Given the description of an element on the screen output the (x, y) to click on. 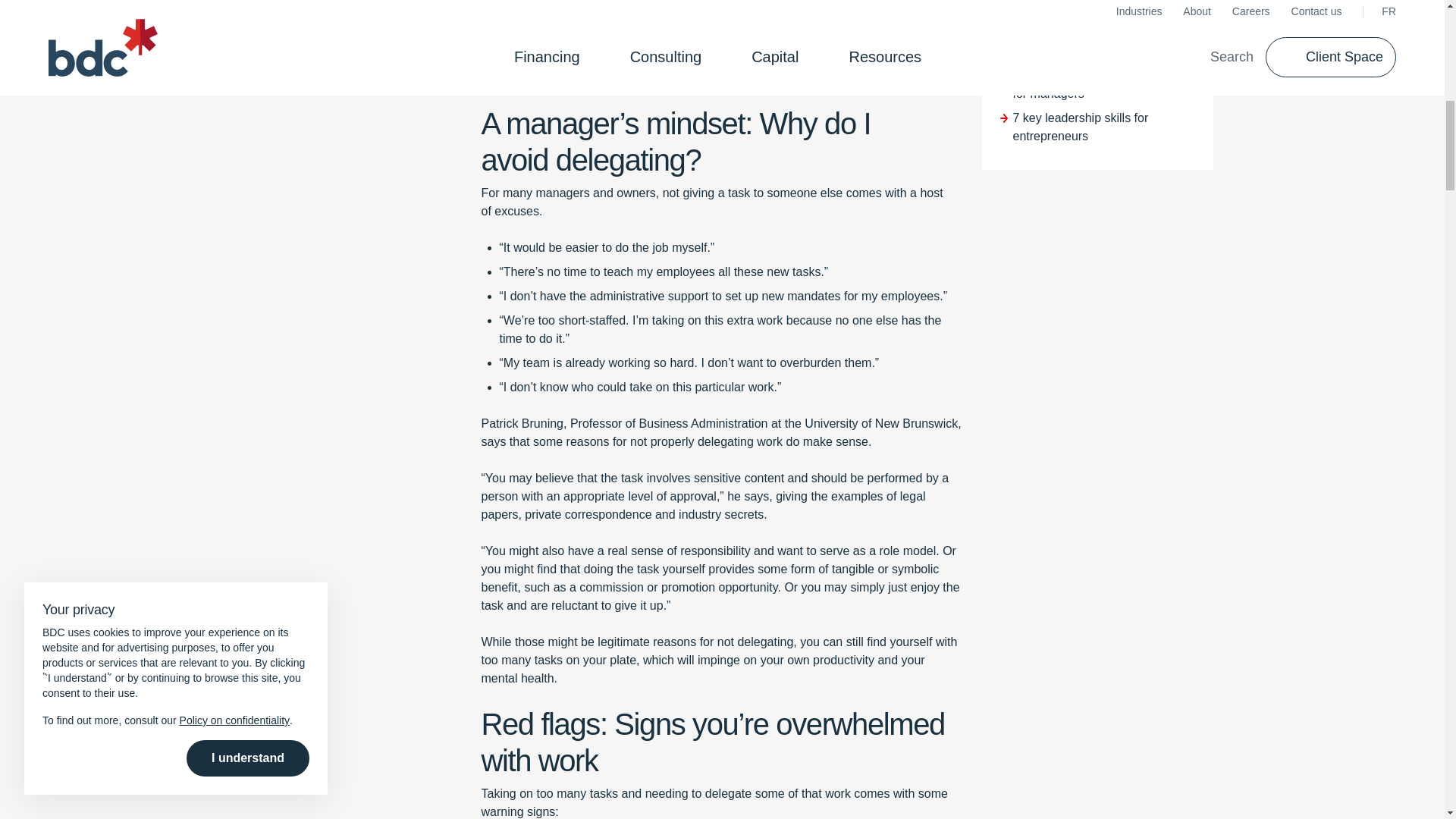
Leadership is key to growing your business (346, 45)
